Given the description of an element on the screen output the (x, y) to click on. 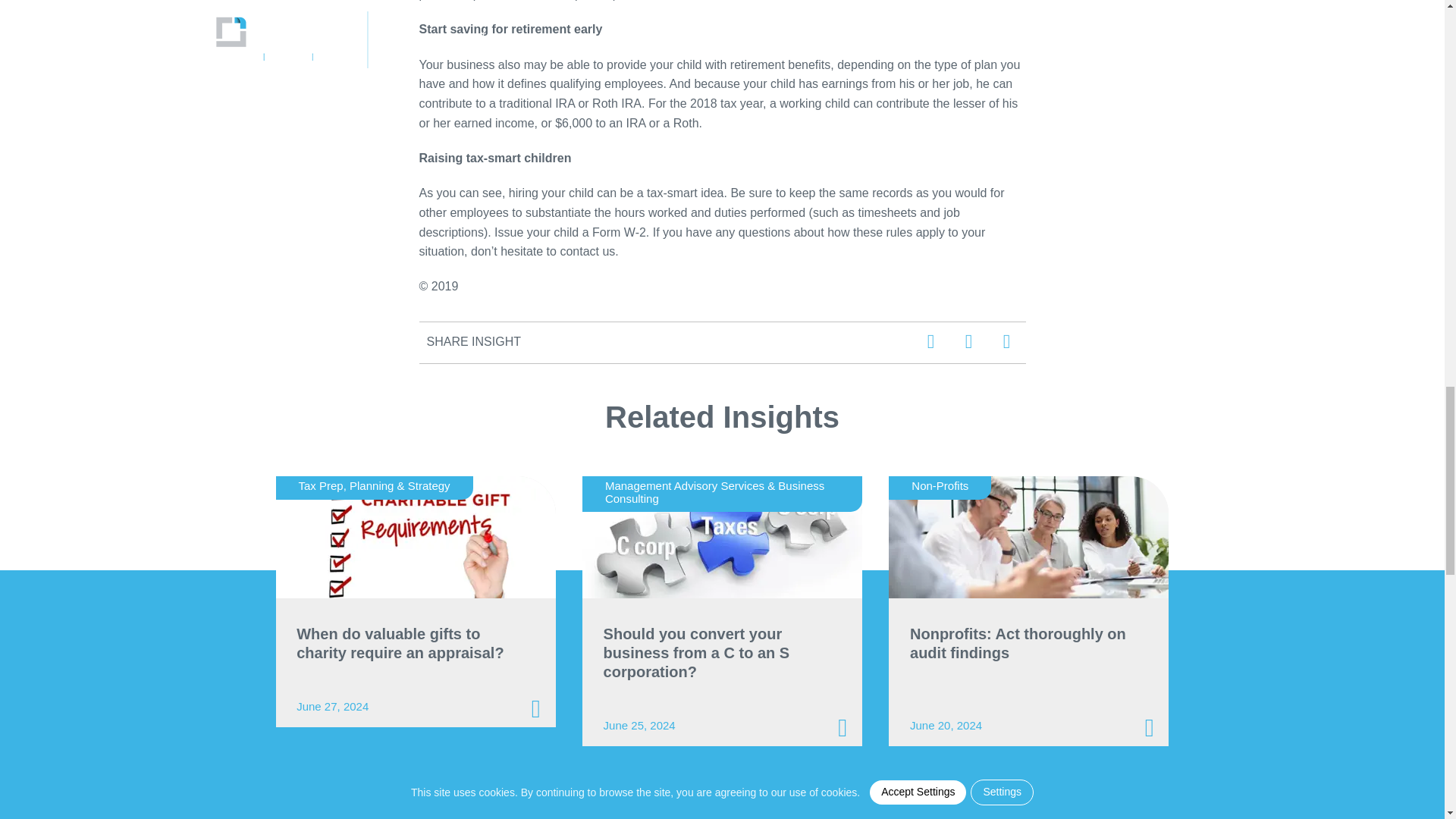
Nonprofits: Act thoroughly on audit findings (1022, 649)
When do valuable gifts to charity require an appraisal? (409, 649)
When do valuable gifts to charity require an appraisal? (416, 536)
Nonprofits: Act thoroughly on audit findings (1028, 536)
